Given the description of an element on the screen output the (x, y) to click on. 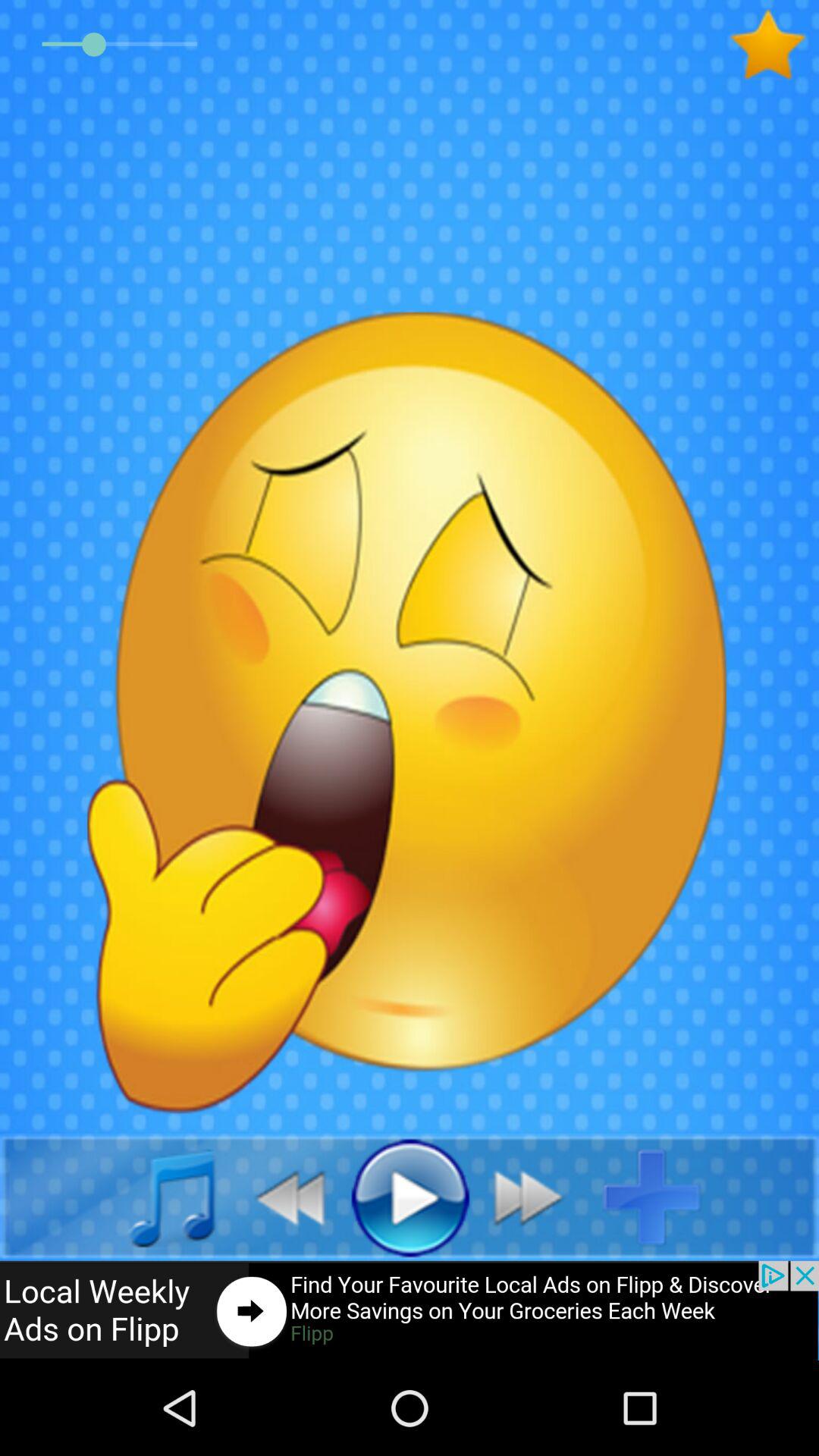
click next option (536, 1196)
